Given the description of an element on the screen output the (x, y) to click on. 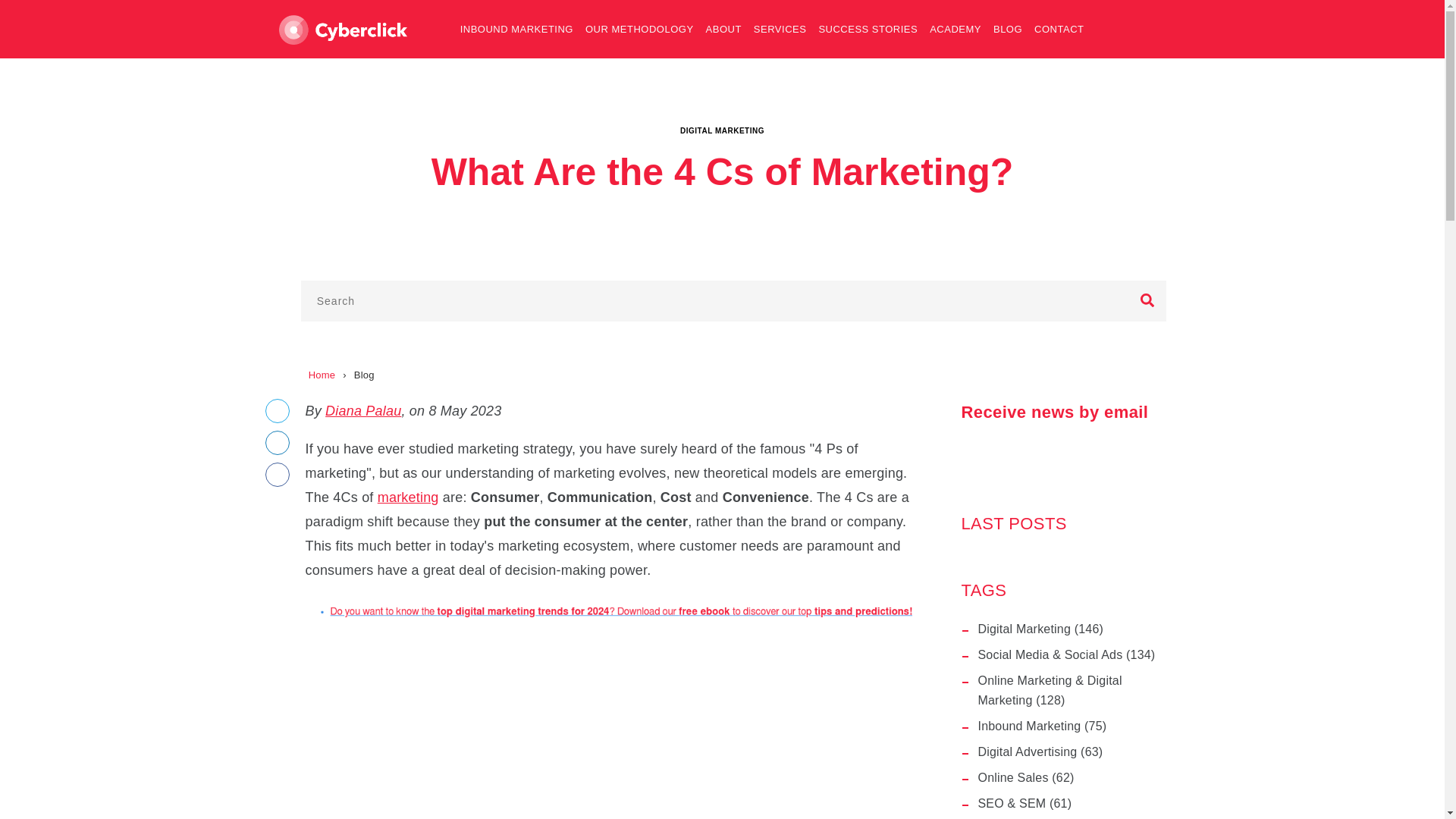
INBOUND MARKETING (516, 29)
SUCCESS STORIES (867, 29)
Home (321, 374)
ACADEMY (955, 29)
Cyberclick (343, 30)
Diana Palau (362, 410)
CONTACT (1058, 29)
OUR METHODOLOGY (639, 29)
DIGITAL MARKETING (721, 128)
The NEW 4 C's of Marketing Explained! (607, 723)
